Given the description of an element on the screen output the (x, y) to click on. 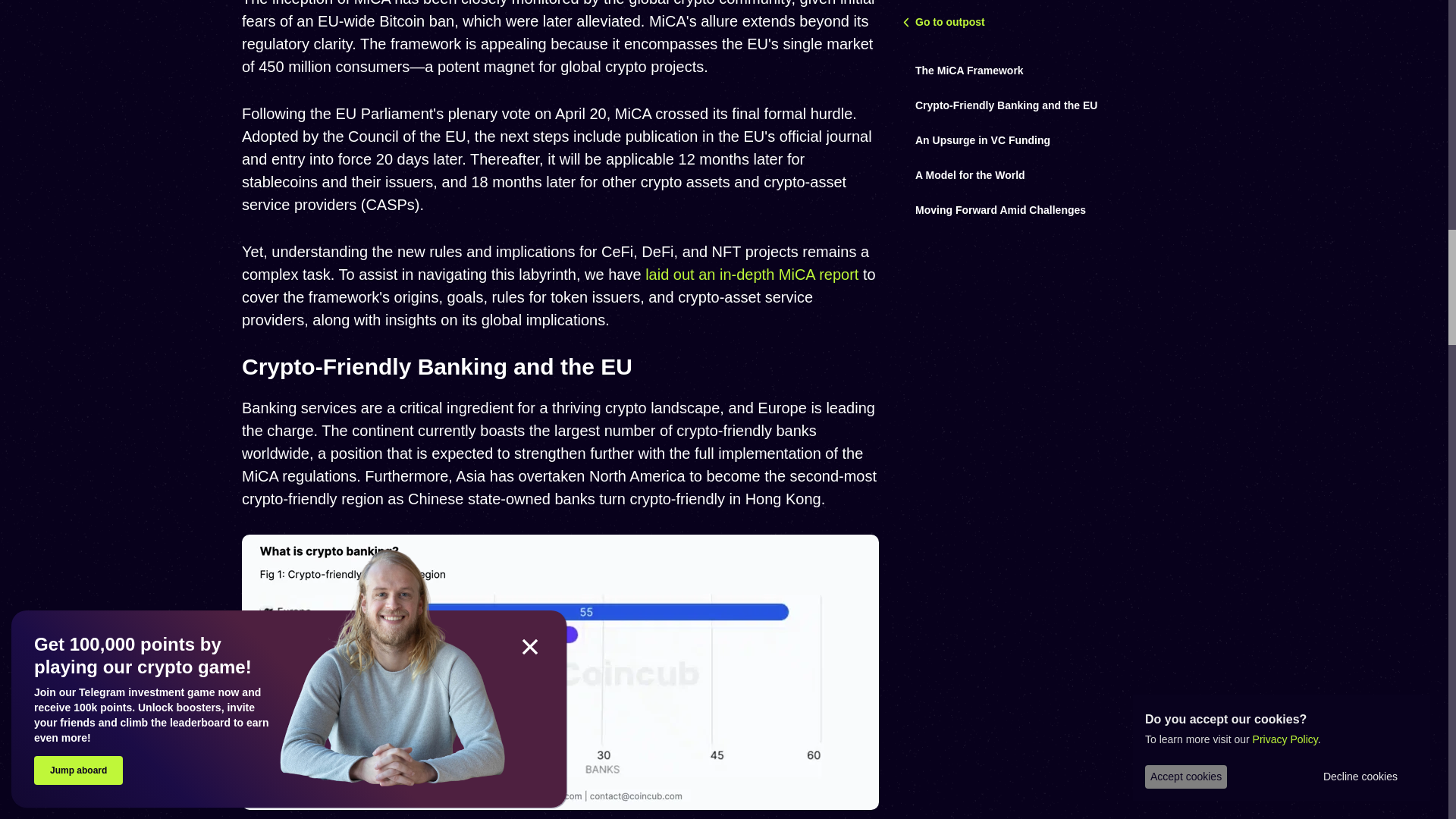
laid out an in-depth MiCA report (752, 274)
Crypto-Friendly Banking and the EU (436, 366)
